Given the description of an element on the screen output the (x, y) to click on. 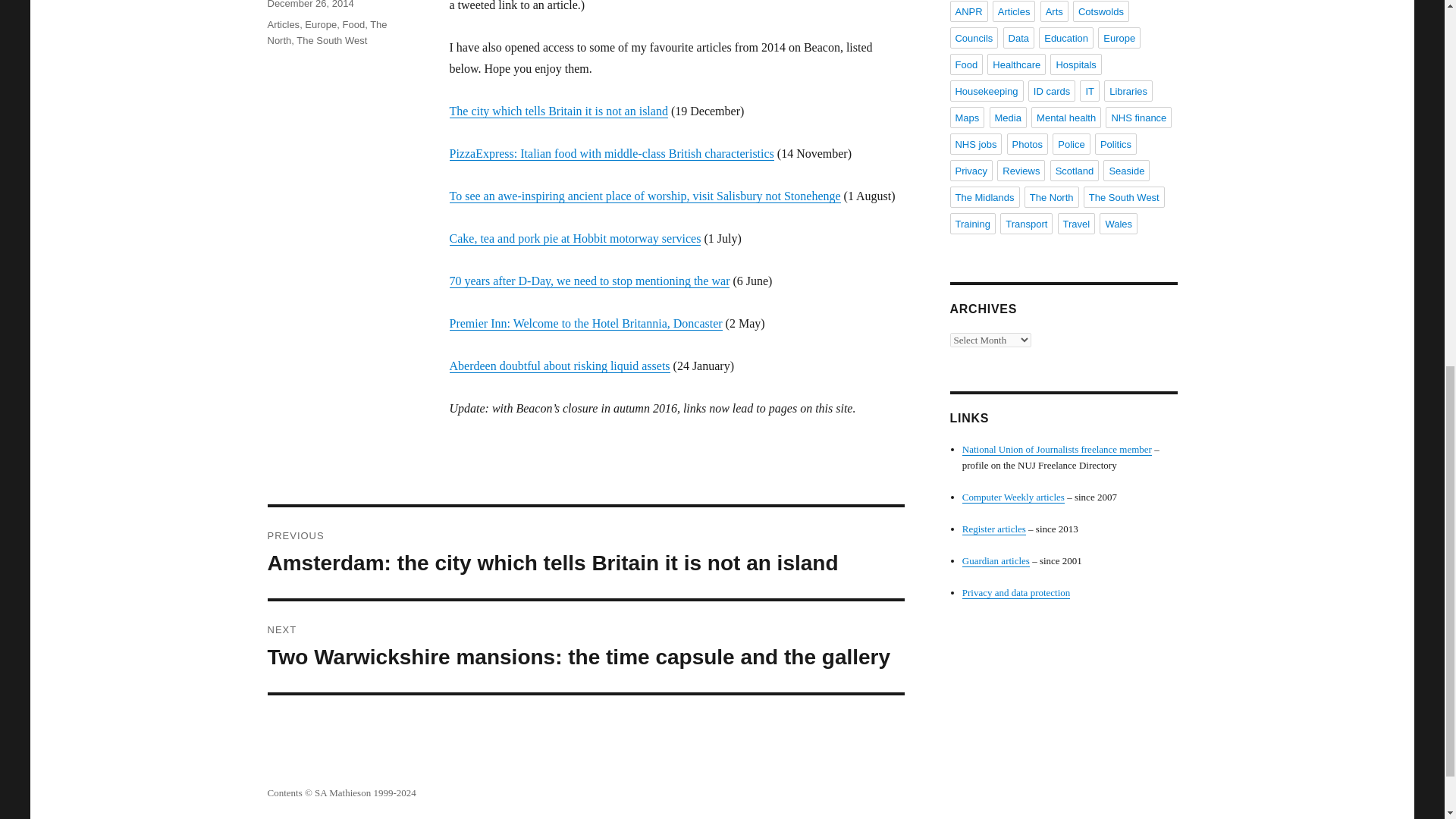
Guardian articles (995, 560)
Articles (282, 24)
The South West (331, 40)
Europe (320, 24)
70 years after D-Day, we need to stop mentioning the war (588, 280)
Food (353, 24)
ANPR (968, 11)
National Union of Journalists (1056, 449)
Arts (1054, 11)
Cake, tea and pork pie at Hobbit motorway services (574, 237)
Premier Inn: Welcome to the Hotel Britannia, Doncaster (585, 323)
The city which tells Britain it is not an island (557, 110)
Register articles (994, 528)
